Given the description of an element on the screen output the (x, y) to click on. 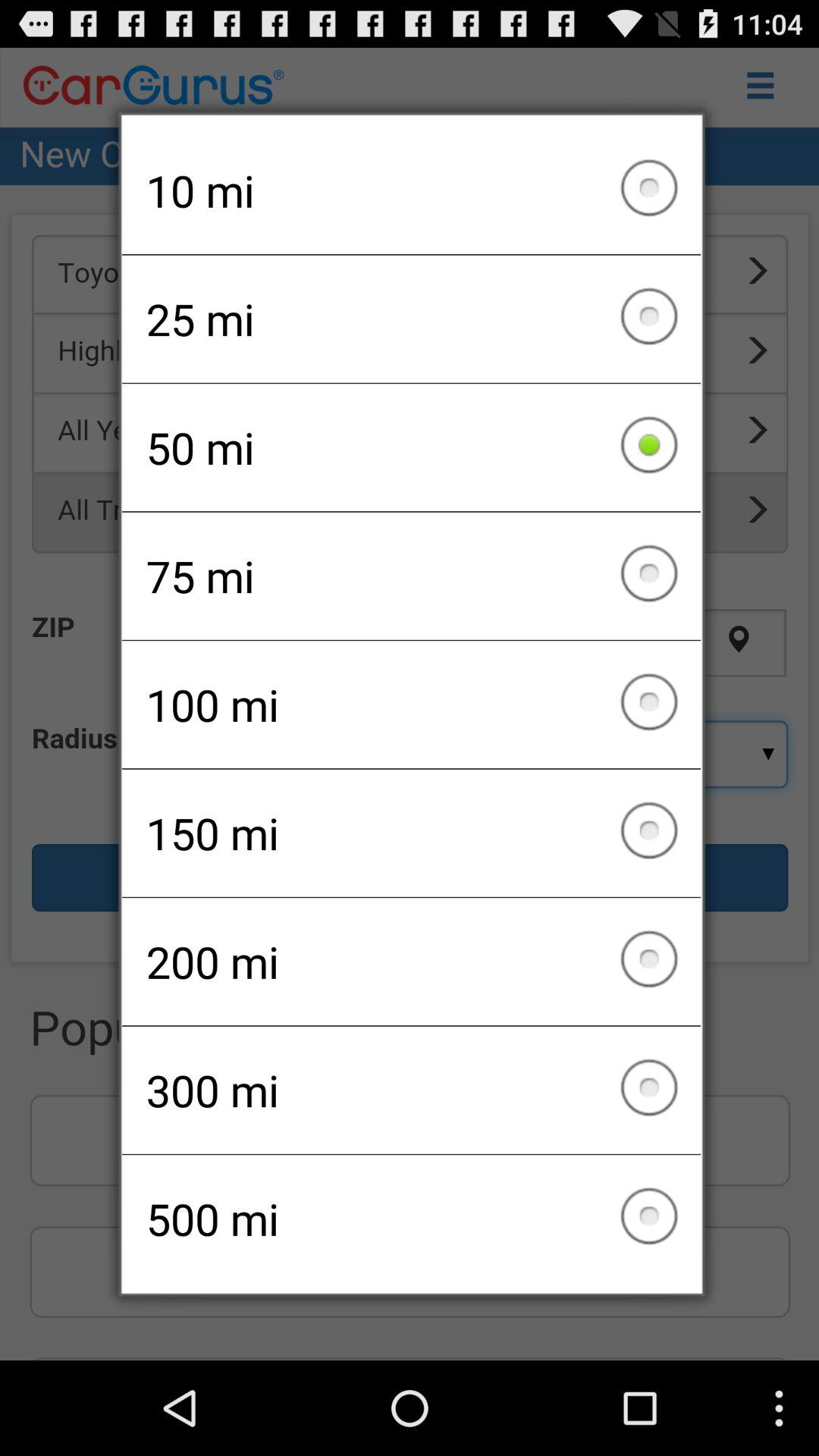
tap the 50 mi icon (411, 447)
